Given the description of an element on the screen output the (x, y) to click on. 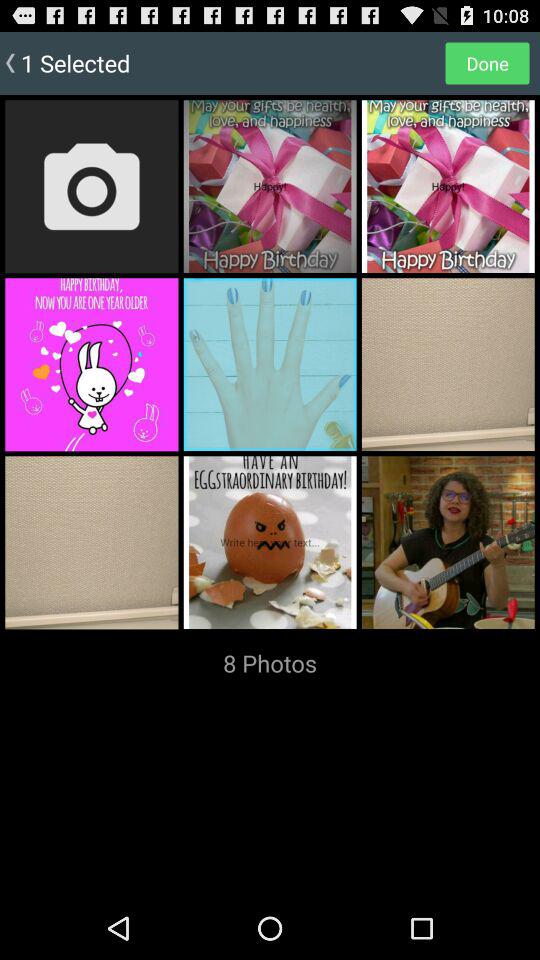
launch the app at the bottom (269, 663)
